Given the description of an element on the screen output the (x, y) to click on. 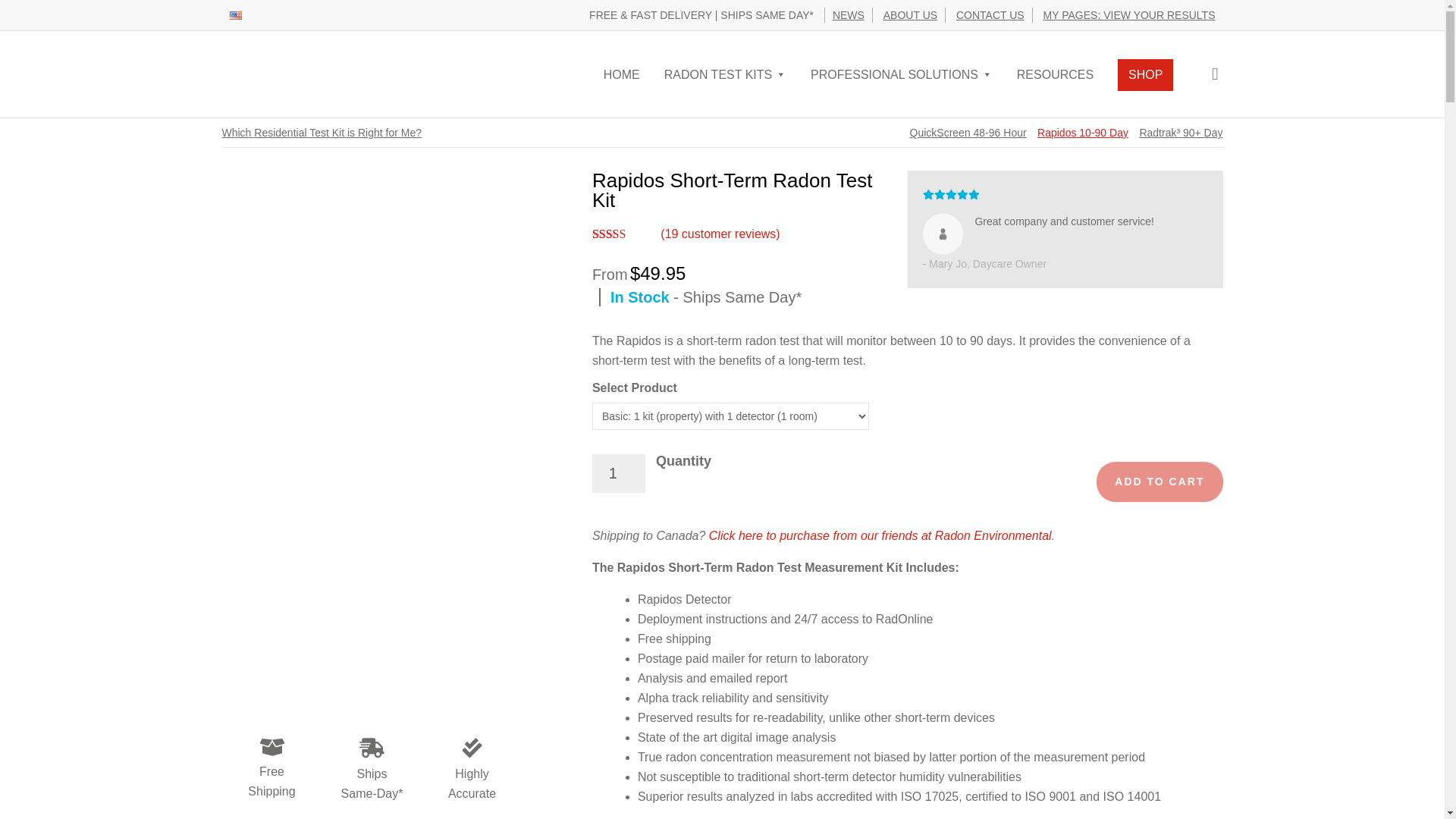
RADON TEST KITS (725, 74)
HOME (621, 74)
CONTACT US (990, 14)
MY PAGES: VIEW YOUR RESULTS (1129, 14)
NEWS (848, 14)
SHOP (1145, 74)
PROFESSIONAL SOLUTIONS (901, 74)
RESOURCES (1054, 74)
1 (618, 473)
ABOUT US (910, 14)
Radonova (325, 72)
AMERICA (234, 14)
